Given the description of an element on the screen output the (x, y) to click on. 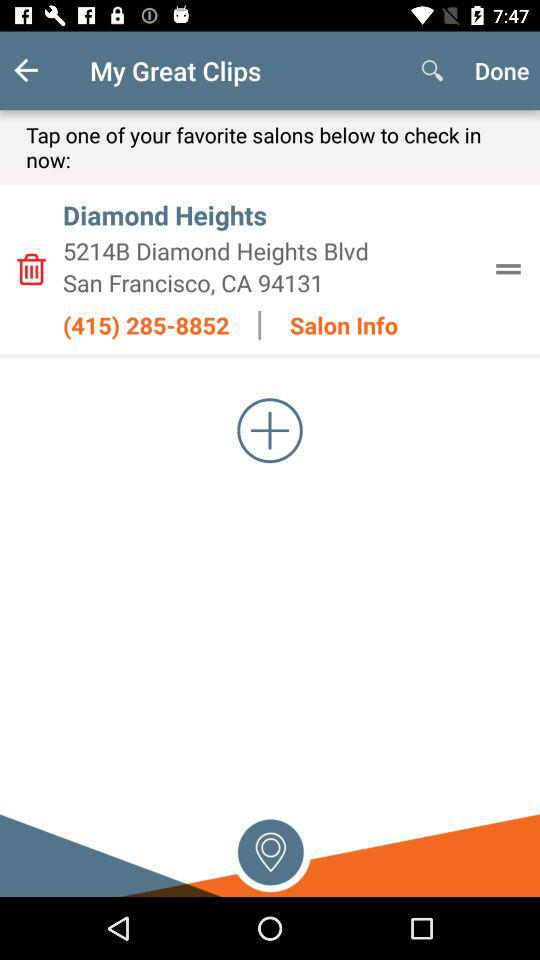
search location (270, 850)
